Given the description of an element on the screen output the (x, y) to click on. 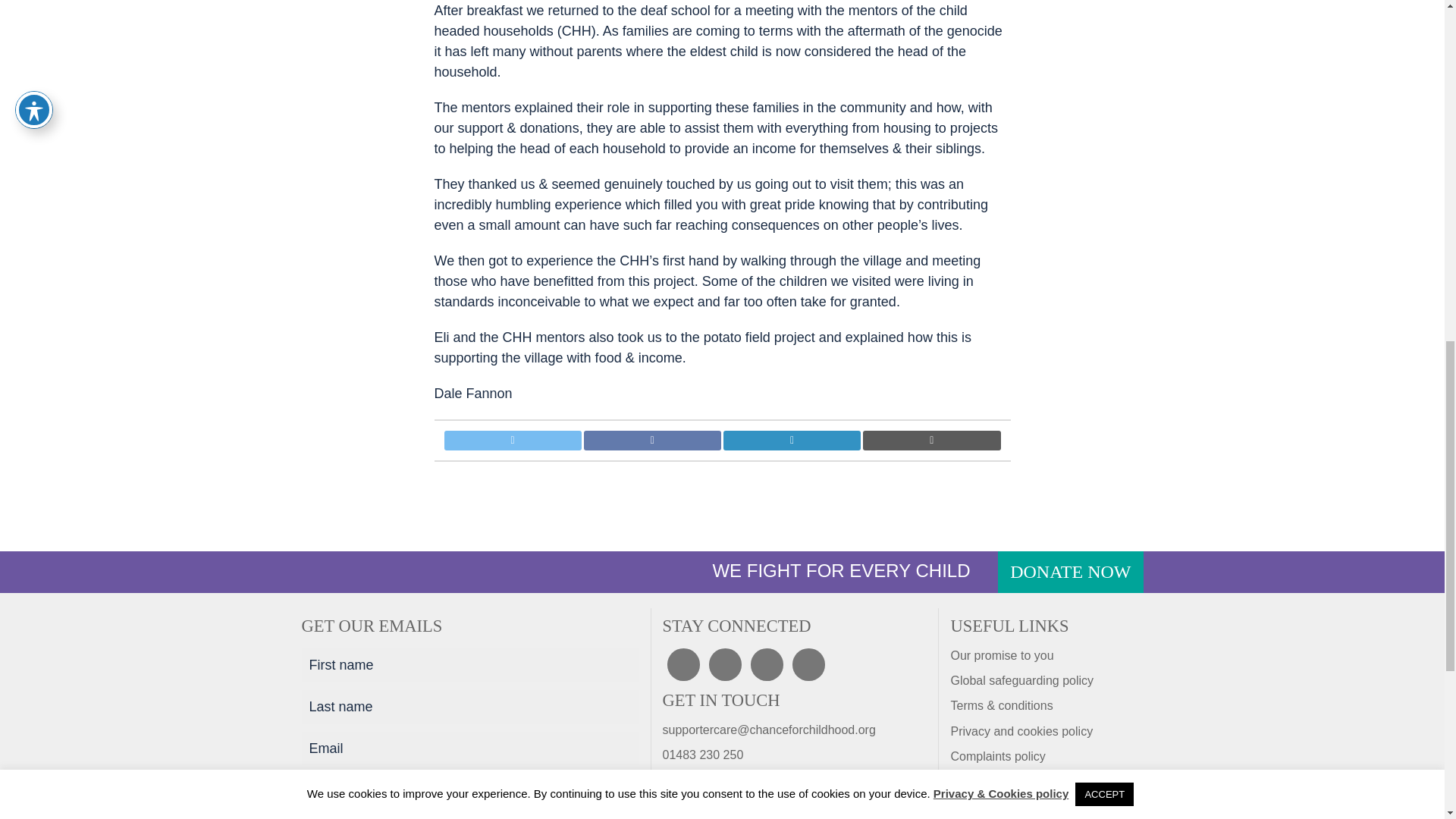
SHARE ON FACEBOOK (651, 440)
Sign up (341, 786)
SHARE ON EMAIL (931, 440)
SHARE ON LINKEDIN (791, 440)
